Given the description of an element on the screen output the (x, y) to click on. 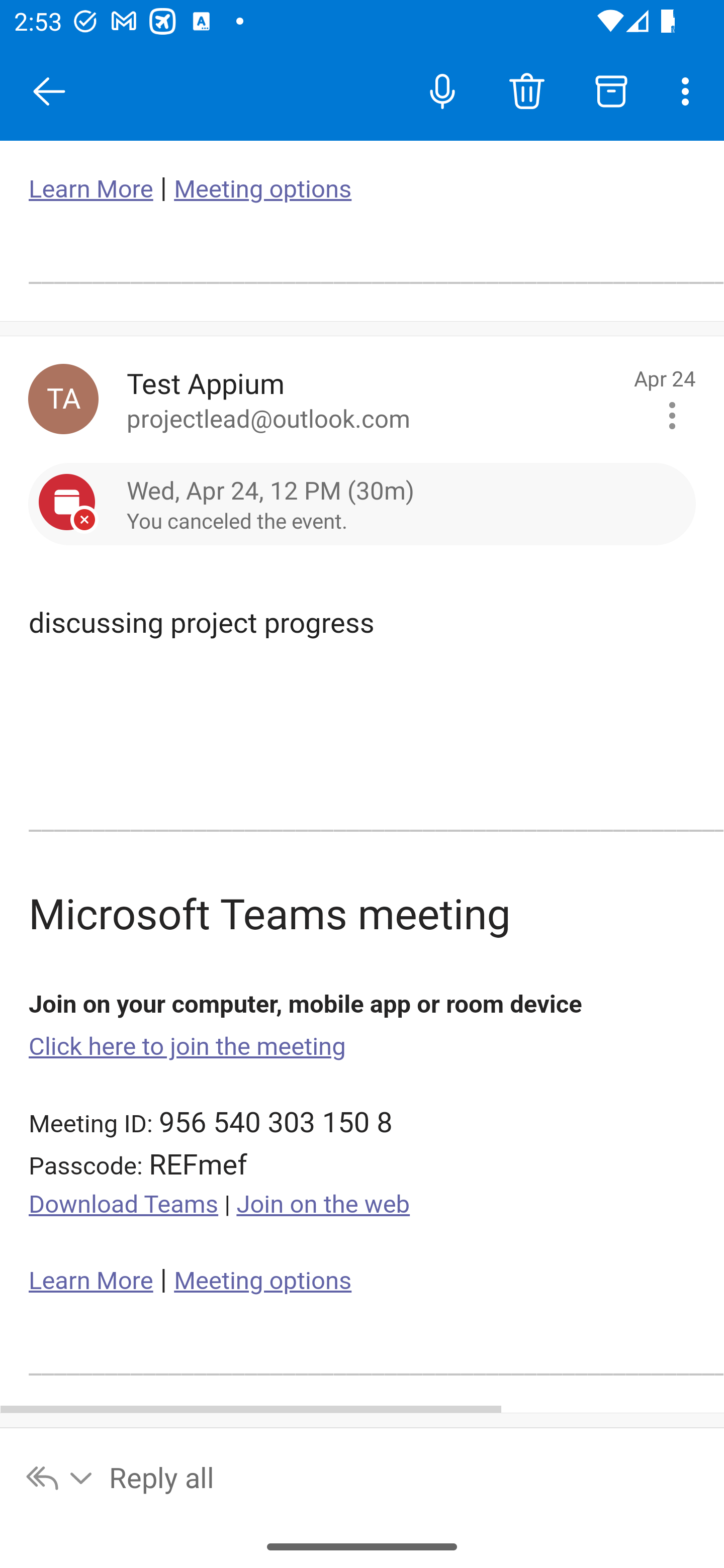
Close (49, 91)
Delete (526, 90)
Archive (611, 90)
More options (688, 90)
Learn More (90, 189)
Meeting options (262, 189)
Test Appium, testappium002@outlook.com (63, 398)
Test Appium
to projectlead@outlook.com (372, 398)
Message actions (671, 416)
Click here to join the meeting (187, 1046)
Download Teams (124, 1204)
Join on the web (323, 1204)
Learn More (90, 1280)
Meeting options (262, 1280)
Reply options (59, 1476)
